Given the description of an element on the screen output the (x, y) to click on. 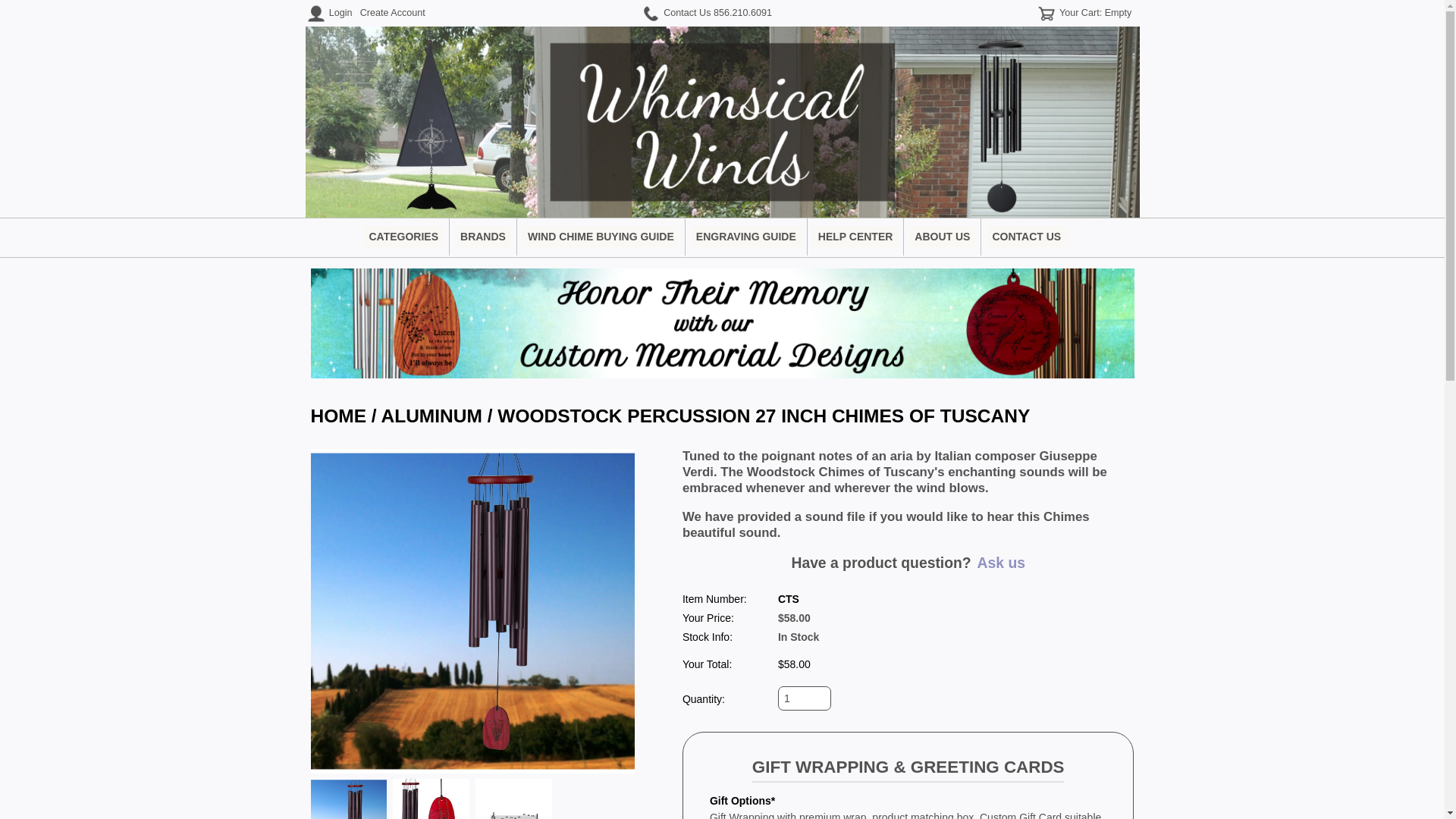
ALUMINUM (431, 415)
Contact Us (686, 12)
Create Account (392, 12)
Create Account (392, 12)
Call Us (742, 12)
1 (804, 698)
Home (338, 415)
Aluminum (431, 415)
Login (340, 12)
HOME (338, 415)
Woodstock Percussion 27 Inch Chimes of Tuscany (472, 610)
Contact Us (686, 12)
856.210.6091 (742, 12)
Login (340, 12)
